Given the description of an element on the screen output the (x, y) to click on. 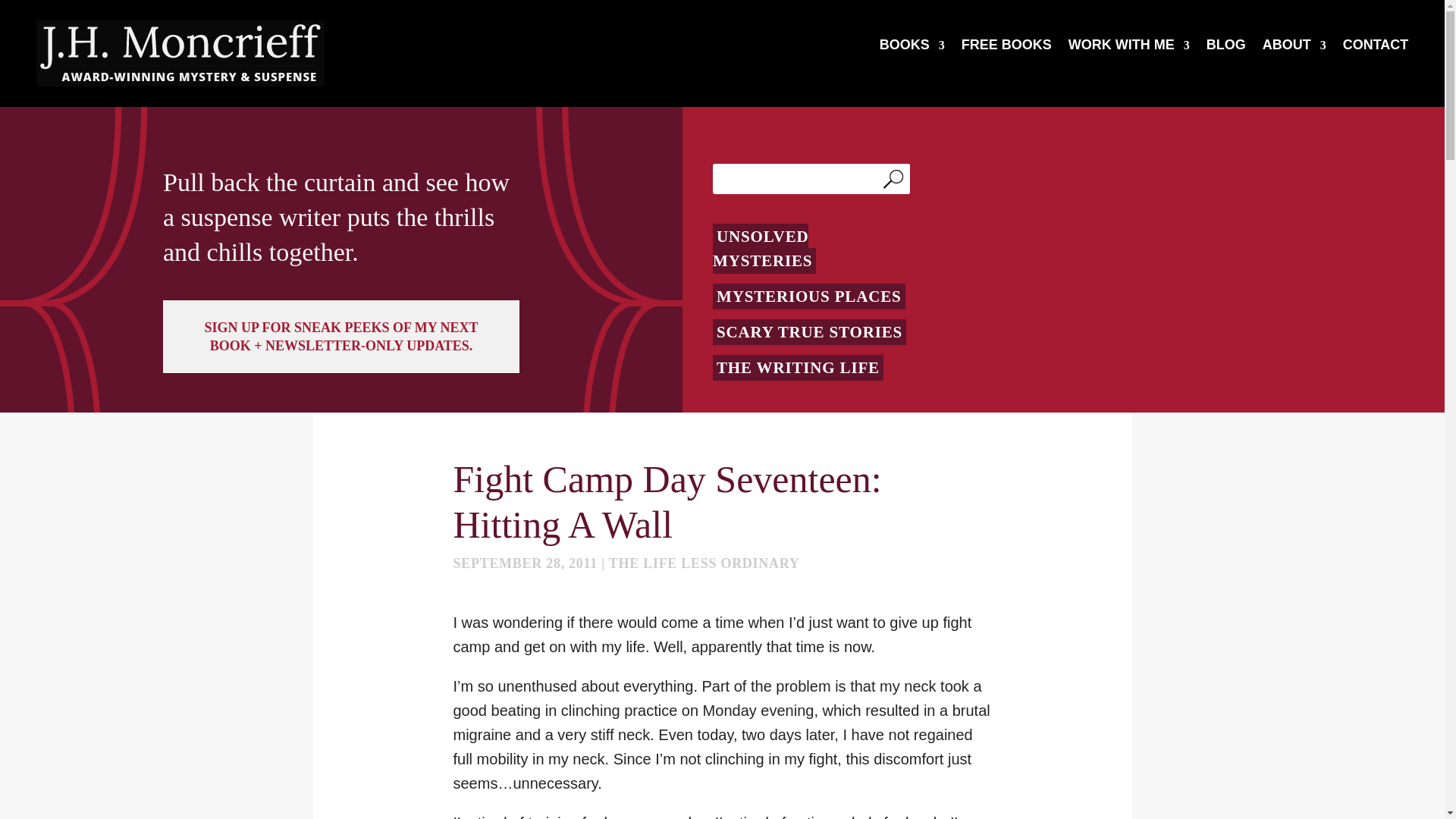
BLOG (1226, 47)
FREE BOOKS (1005, 47)
THE LIFE LESS ORDINARY (703, 563)
CONTACT (1375, 47)
THE WRITING LIFE (798, 367)
MYSTERIOUS PLACES (809, 296)
UNSOLVED MYSTERIES (764, 248)
Search (896, 178)
BOOKS (911, 47)
ABOUT (1294, 47)
